Given the description of an element on the screen output the (x, y) to click on. 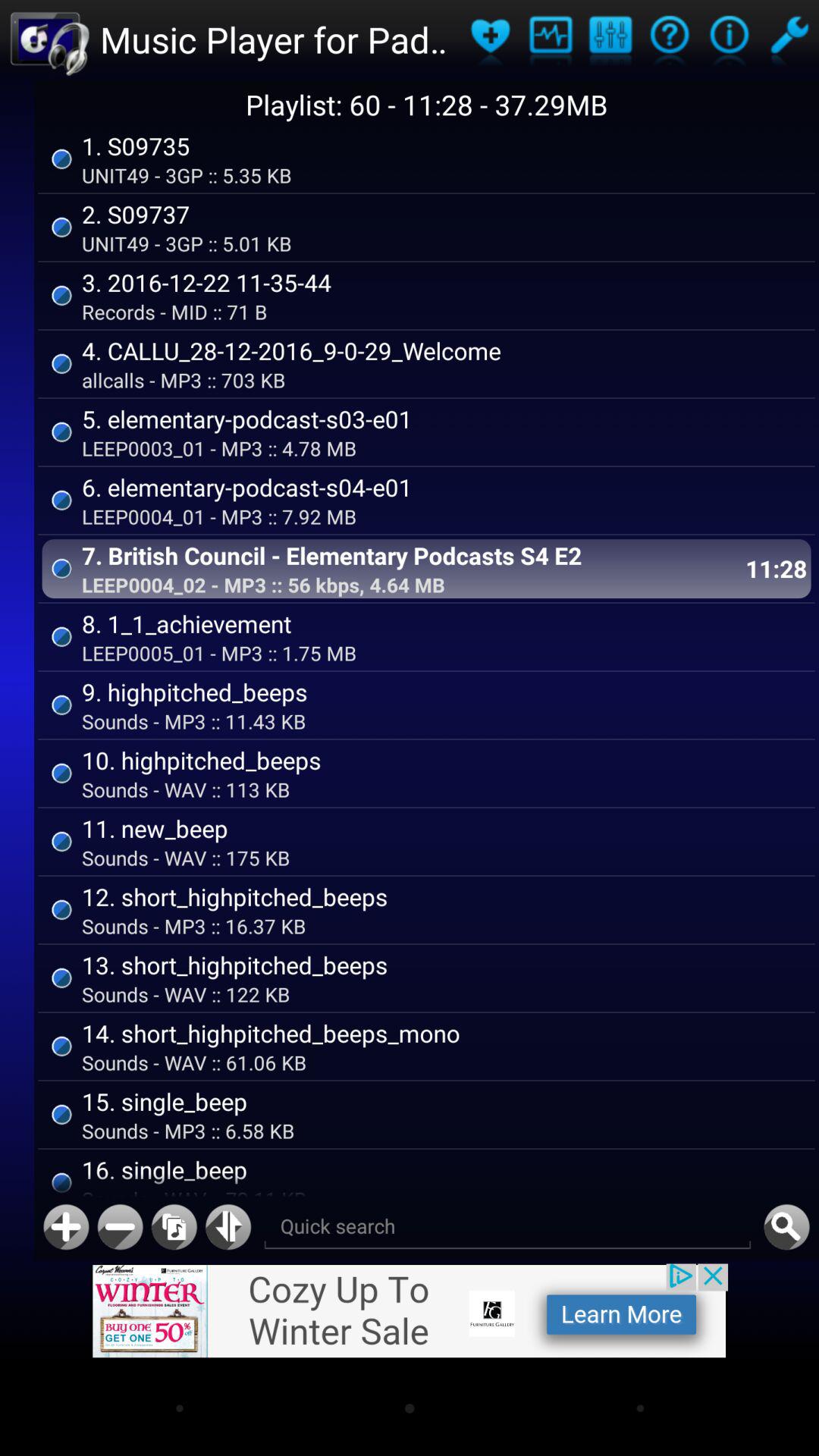
type text (507, 1226)
